Given the description of an element on the screen output the (x, y) to click on. 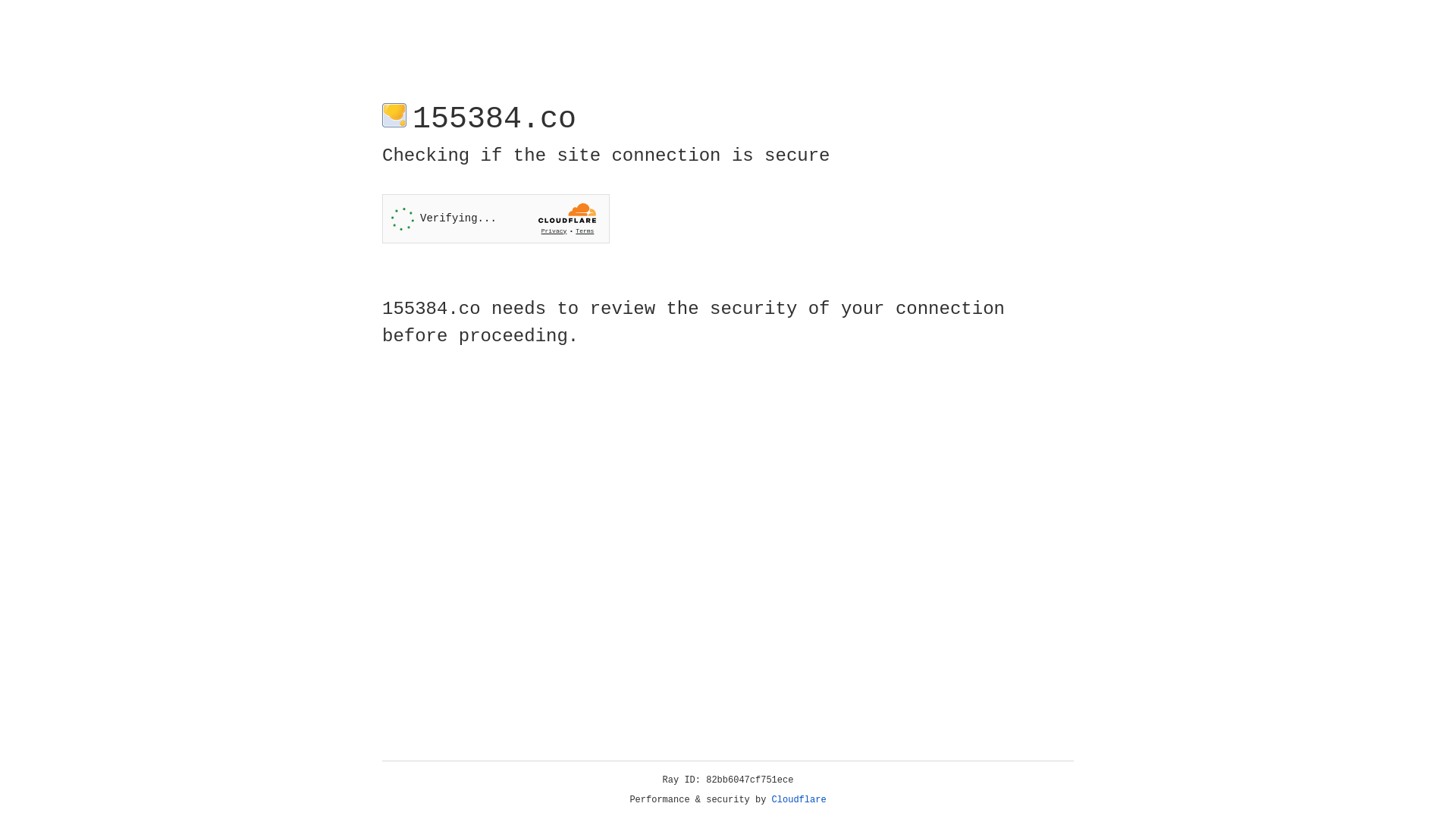
Widget containing a Cloudflare security challenge Element type: hover (495, 218)
Cloudflare Element type: text (798, 799)
